Given the description of an element on the screen output the (x, y) to click on. 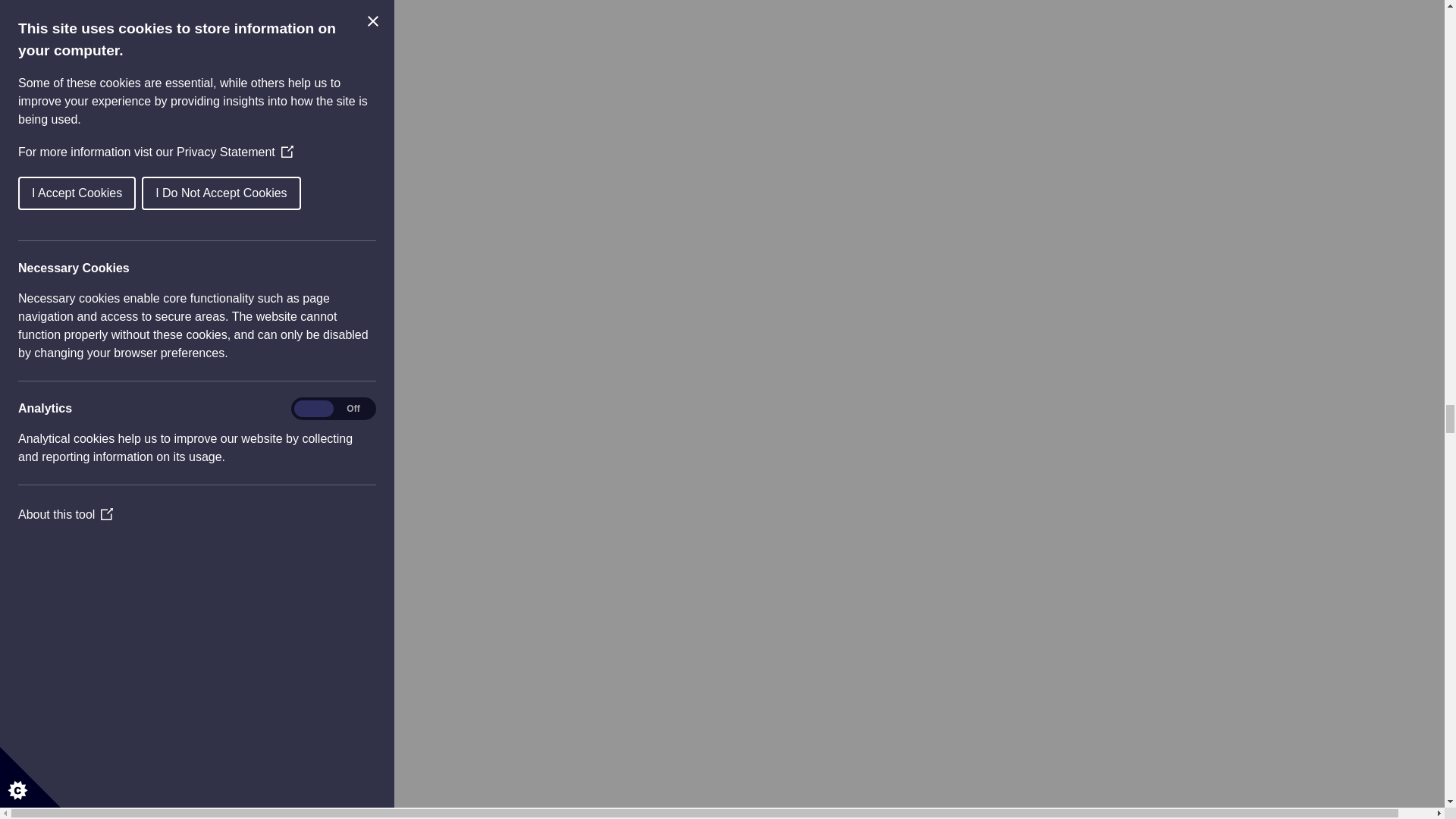
01 (92, 451)
